Given the description of an element on the screen output the (x, y) to click on. 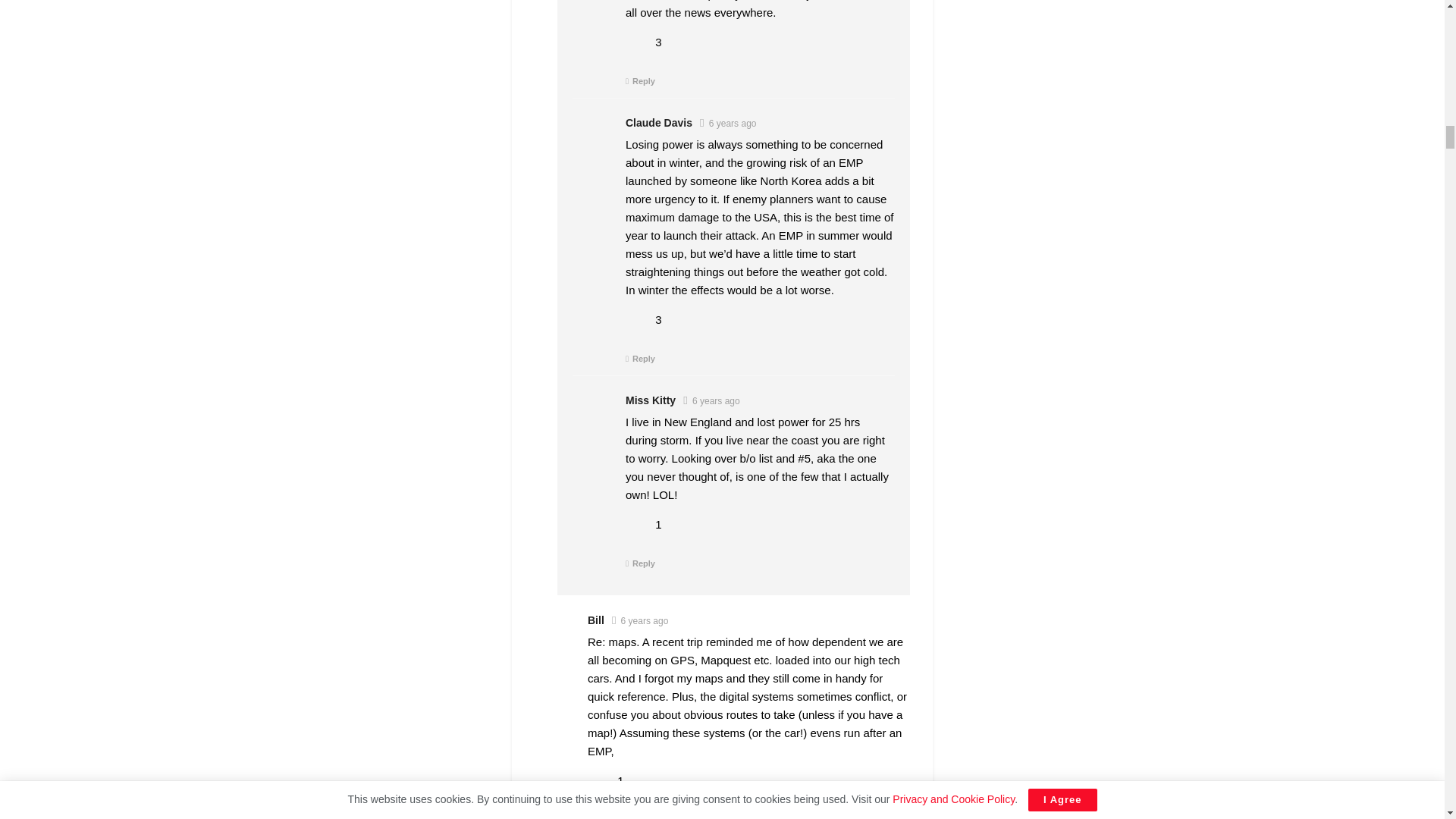
Did you like this comment? (638, 42)
Did you like this comment? (638, 318)
Did you like this comment? (638, 523)
